Given the description of an element on the screen output the (x, y) to click on. 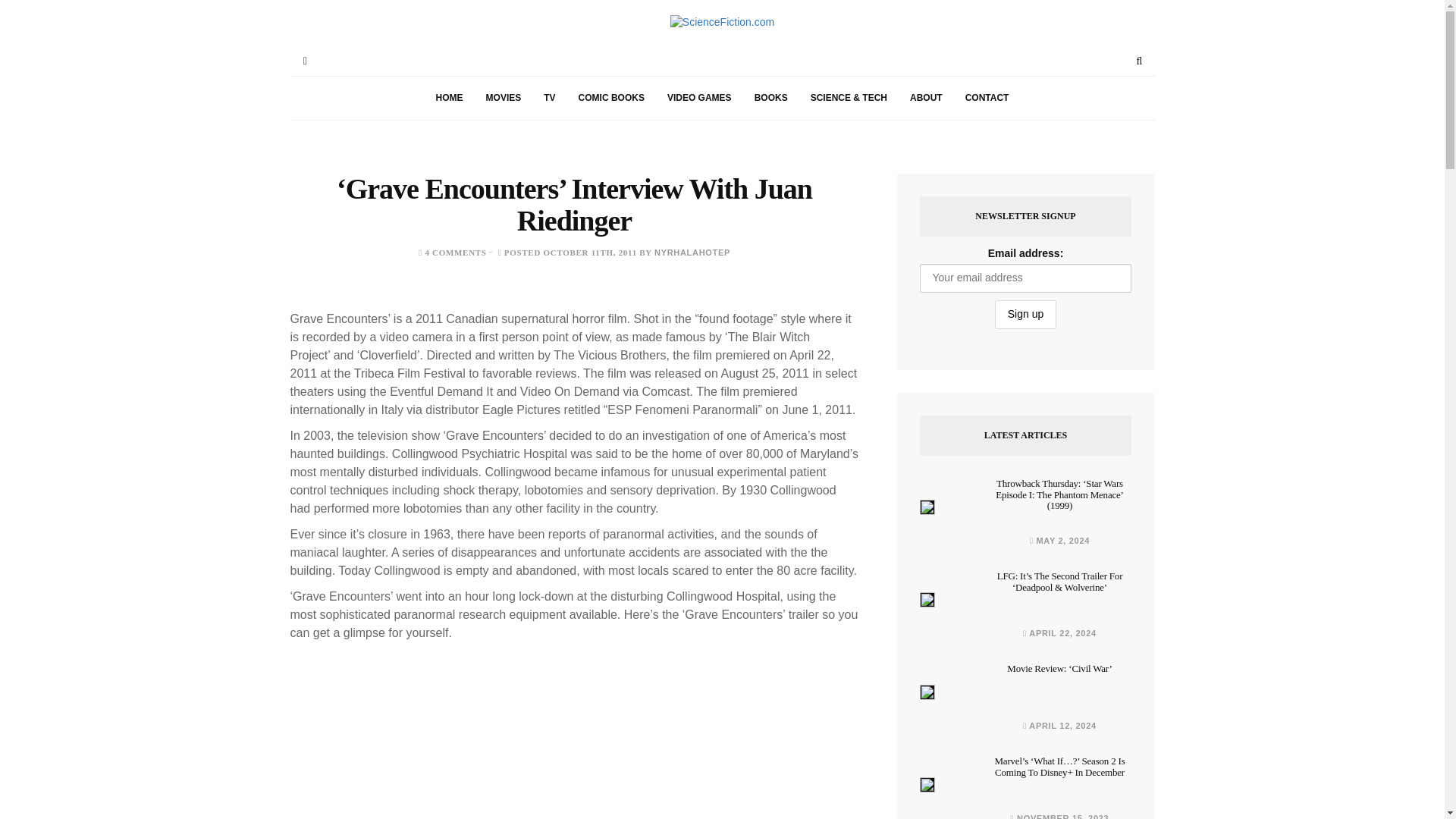
ABOUT (925, 97)
VIDEO GAMES (699, 97)
NYRHALAHOTEP (691, 252)
HOME (449, 97)
MOVIES (503, 97)
BOOKS (770, 97)
4 COMMENTS (455, 252)
Search (1139, 60)
Sign up (1025, 314)
CONTACT (986, 97)
Posts by Nyrhalahotep (691, 252)
COMIC BOOKS (611, 97)
